Given the description of an element on the screen output the (x, y) to click on. 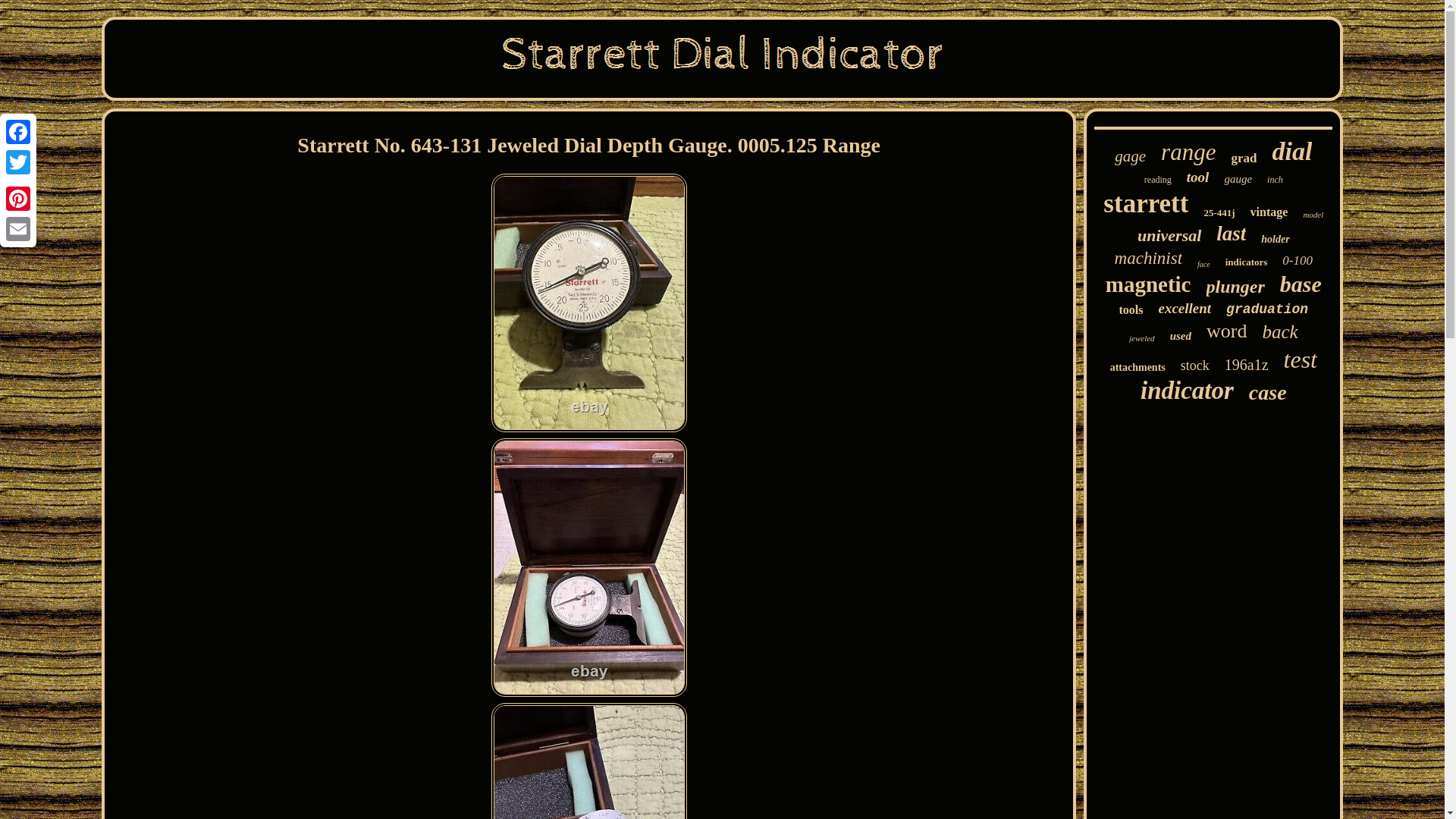
indicators (1246, 262)
Email (17, 228)
grad (1243, 158)
model (1313, 214)
tool (1197, 176)
holder (1274, 239)
0-100 (1297, 260)
starrett (1145, 204)
last (1230, 233)
25-441j (1219, 213)
